Given the description of an element on the screen output the (x, y) to click on. 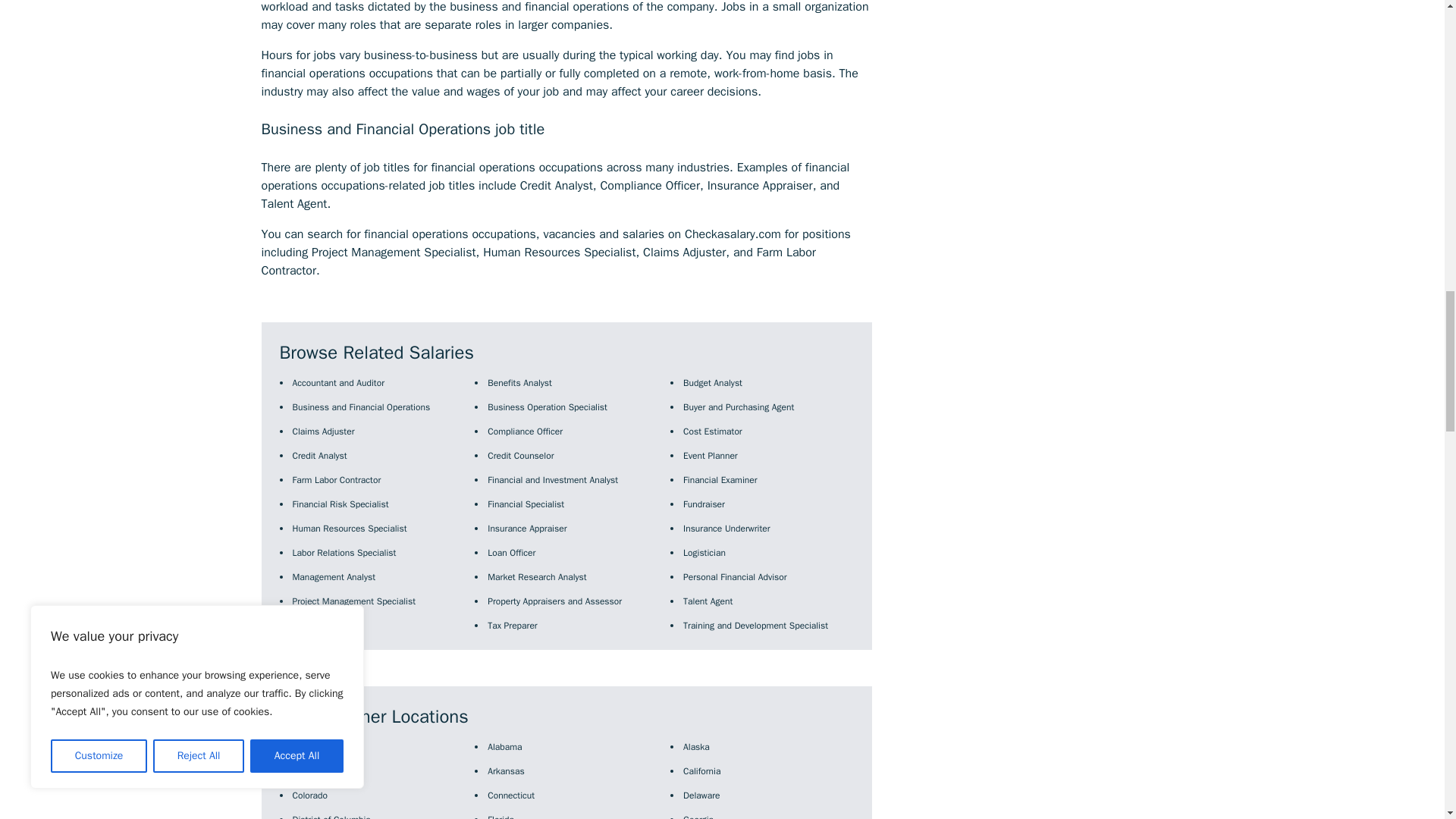
Buyer and Purchasing Agent (737, 407)
Cost Estimator (712, 431)
Budget Analyst (712, 382)
Financial Examiner (719, 480)
Compliance Officer (524, 431)
Business and Financial Operations (361, 407)
Financial and Investment Analyst (552, 480)
Farm Labor Contractor (336, 480)
Business Operation Specialist (547, 407)
Credit Counselor (520, 455)
